Given the description of an element on the screen output the (x, y) to click on. 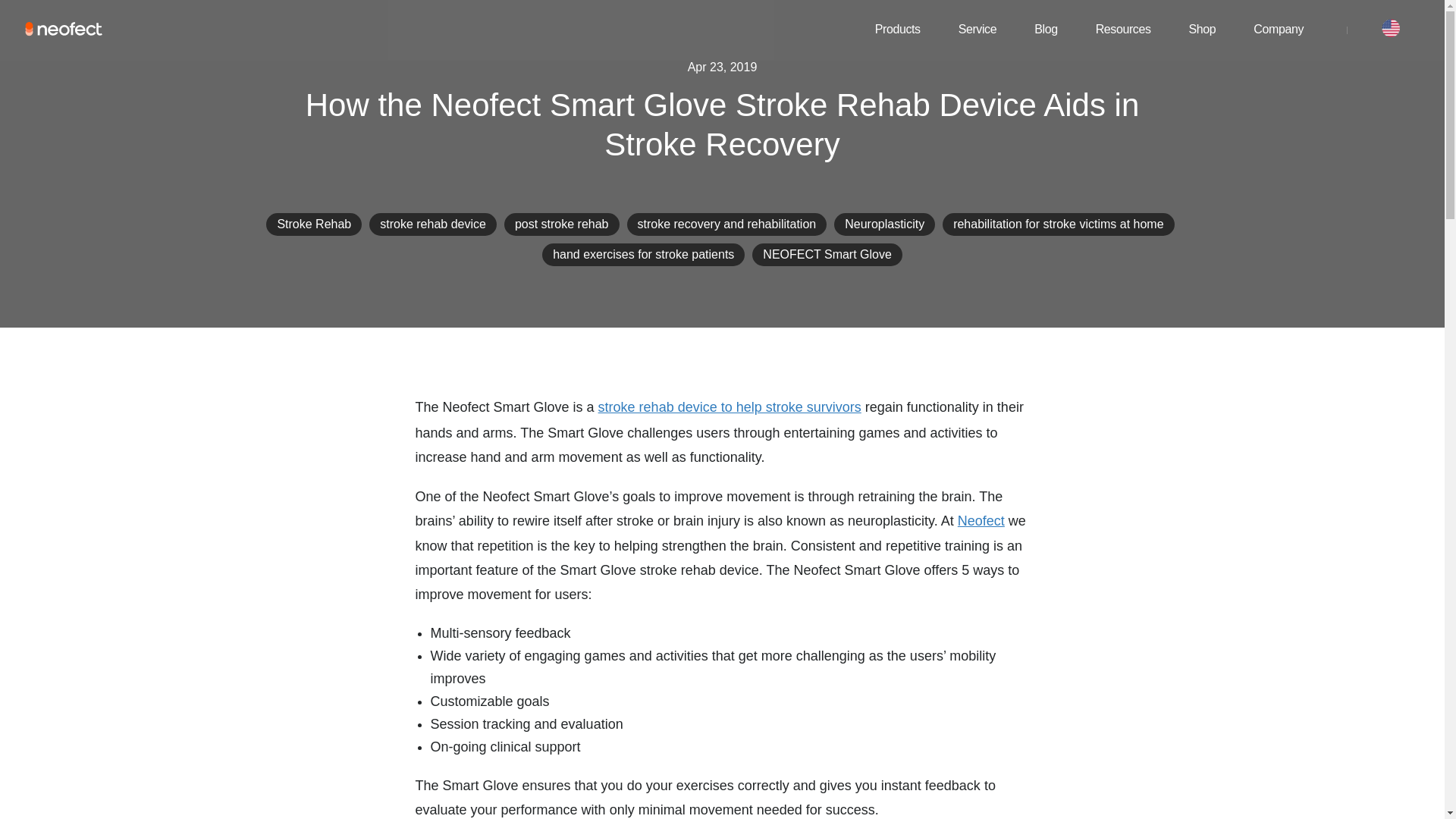
Neuroplasticity (884, 223)
post stroke rehab (561, 223)
hand exercises for stroke patients (643, 254)
rehabilitation for stroke victims at home (1058, 223)
stroke rehab device to help stroke survivors (729, 406)
Shop (1202, 29)
Blog (1044, 29)
stroke rehab device (433, 223)
Stroke Rehab (313, 223)
Neofect (981, 520)
